Given the description of an element on the screen output the (x, y) to click on. 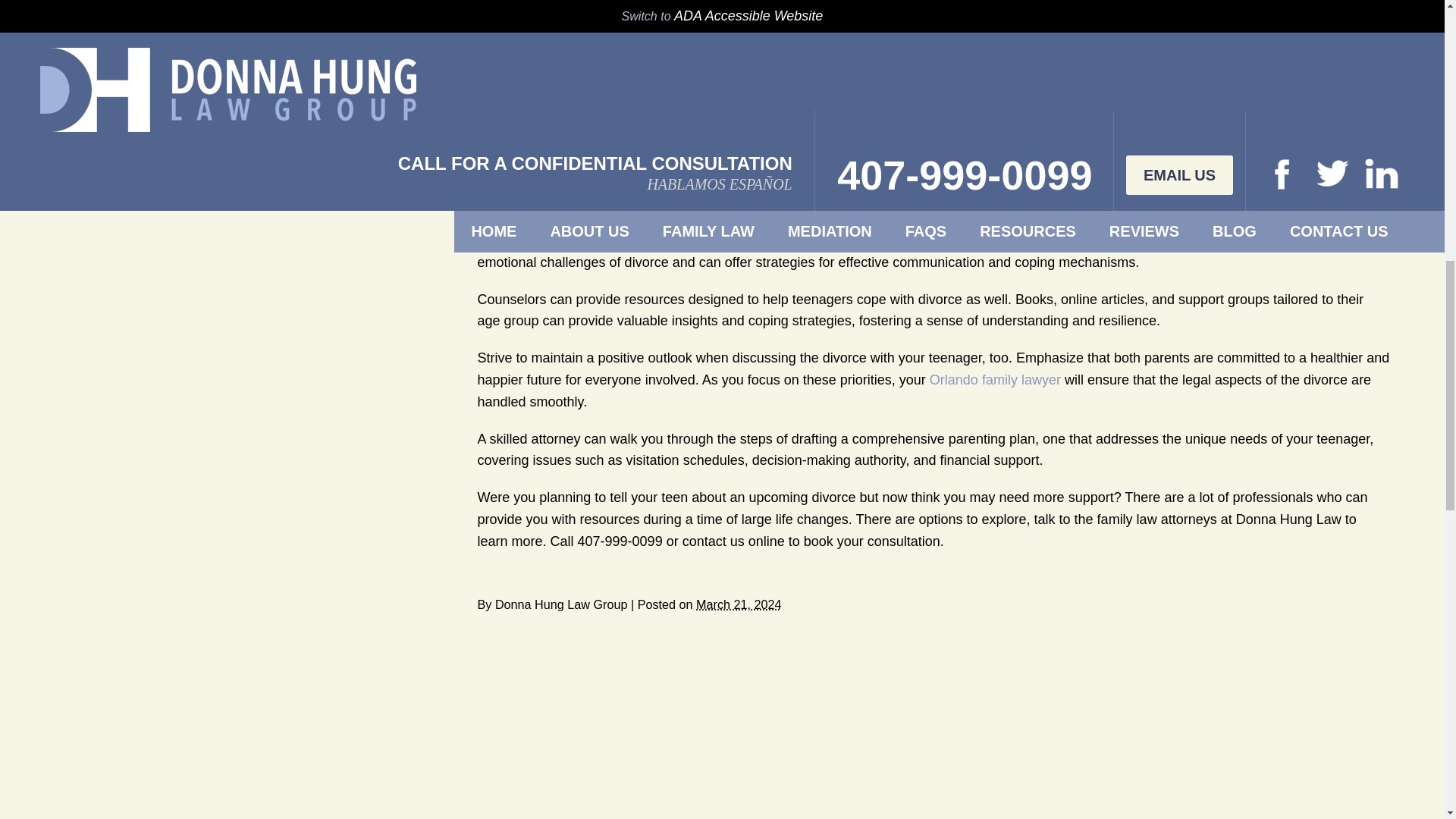
Orlando family lawyer (995, 379)
2024-03-21T03:00:40-0700 (737, 603)
